Given the description of an element on the screen output the (x, y) to click on. 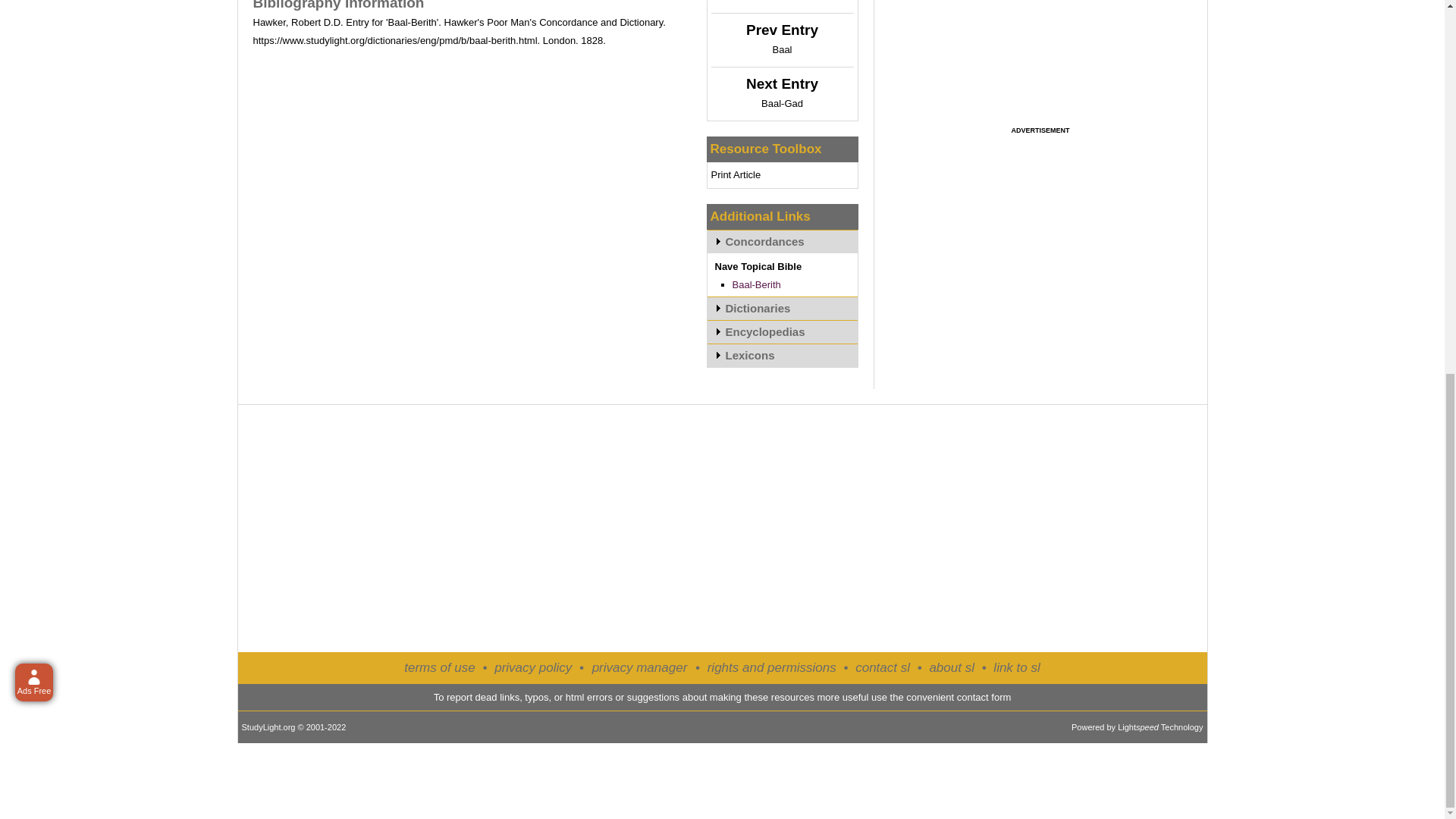
Dictionaries (781, 308)
Print Article (736, 174)
Baal (781, 49)
Baal-Berith (756, 284)
Concordances (781, 241)
Baal-Gad (782, 102)
